Given the description of an element on the screen output the (x, y) to click on. 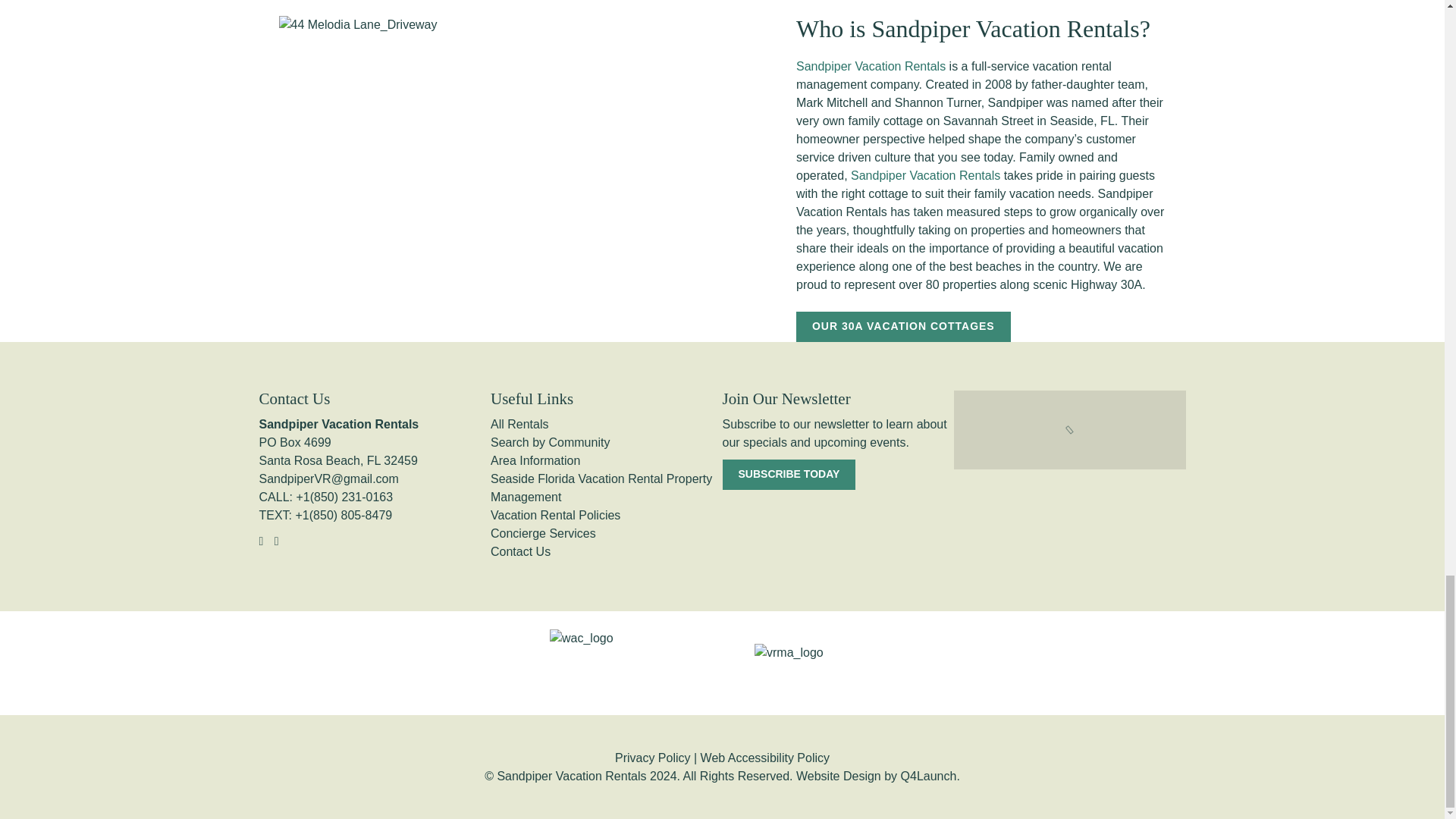
OUR 30A VACATION COTTAGES (903, 327)
Sandpiper Vacation Rentals (870, 65)
Sandpiper Vacation Rentals (925, 174)
